Given the description of an element on the screen output the (x, y) to click on. 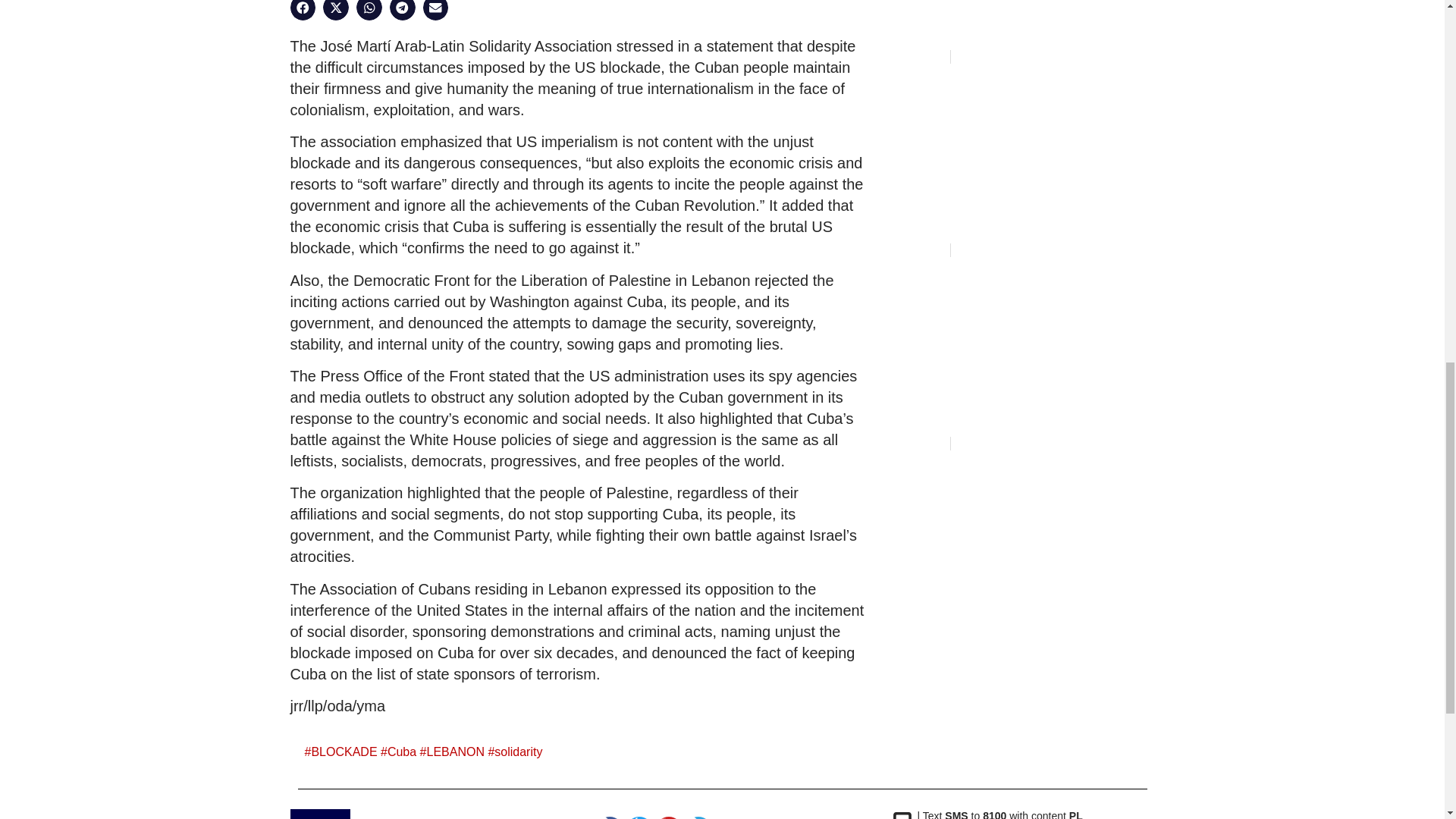
BLOCKADE (344, 751)
August 11, 2024 (913, 56)
Cuba (401, 751)
August 11, 2024 (913, 250)
LEBANON (454, 751)
solidarity (518, 751)
August 11, 2024 (913, 443)
UN condemns Israeli attack on school in Gaza (999, 230)
Paris 2024 is gone, but the emotions of sport remain (995, 37)
